Given the description of an element on the screen output the (x, y) to click on. 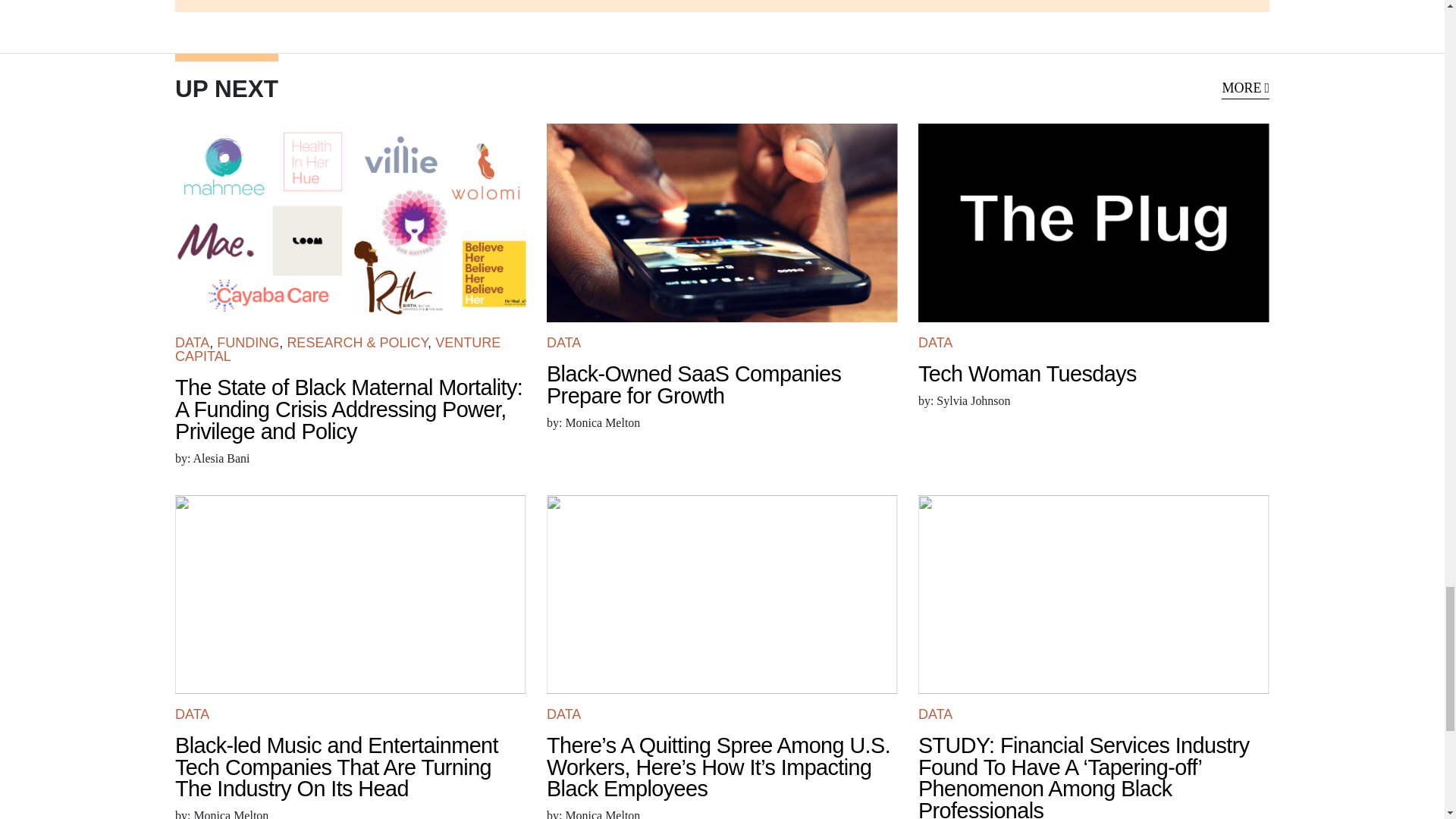
DATA (191, 342)
FUNDING (247, 342)
MORE (1245, 88)
